Given the description of an element on the screen output the (x, y) to click on. 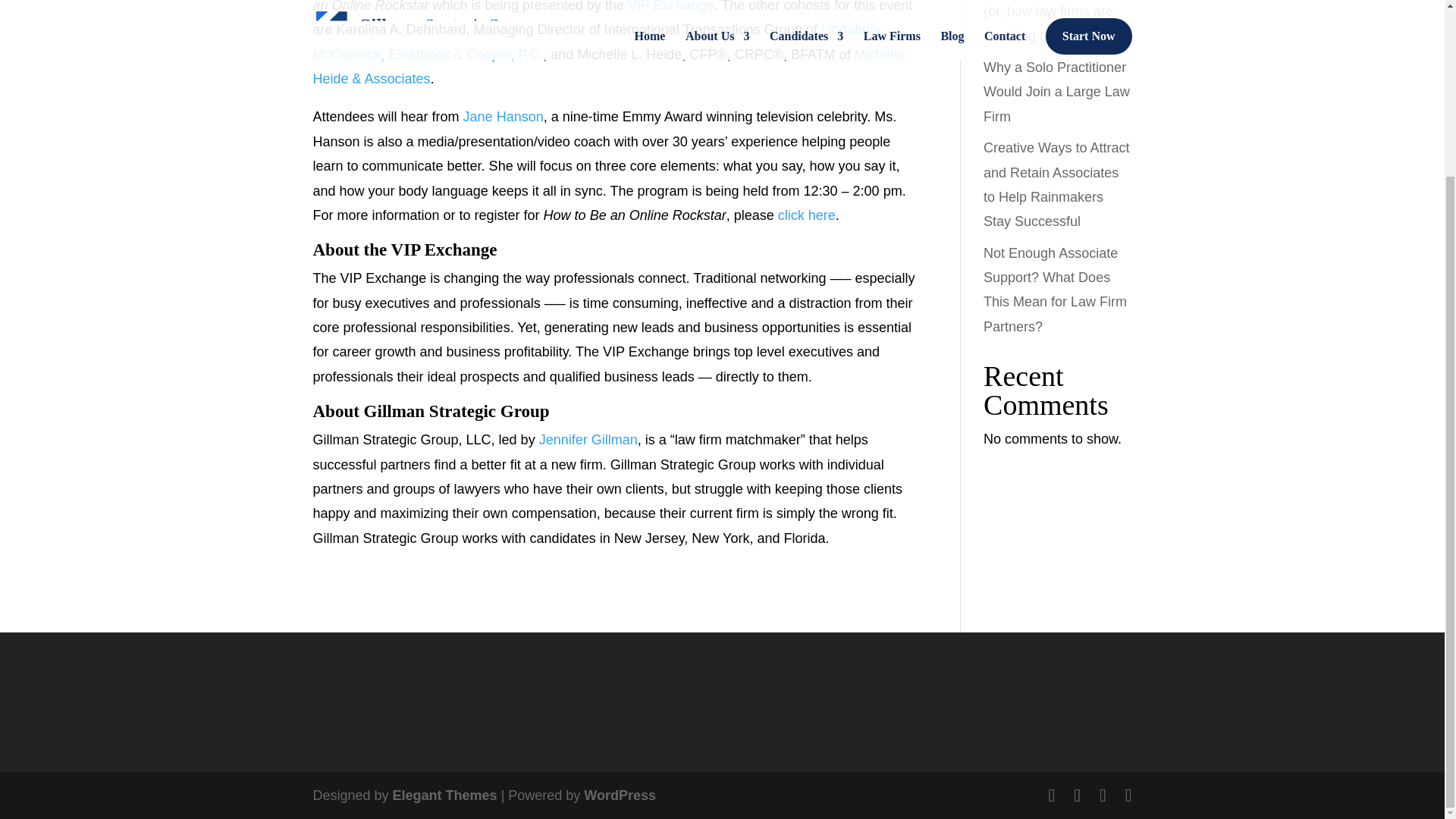
click here (806, 215)
Jennifer Gillman (587, 439)
Jane Hanson (503, 116)
WordPress (619, 795)
Elegant Themes (445, 795)
Premium WordPress Themes (445, 795)
VIP Exchange (670, 6)
Why a Solo Practitioner Would Join a Large Law Firm (1056, 91)
